Given the description of an element on the screen output the (x, y) to click on. 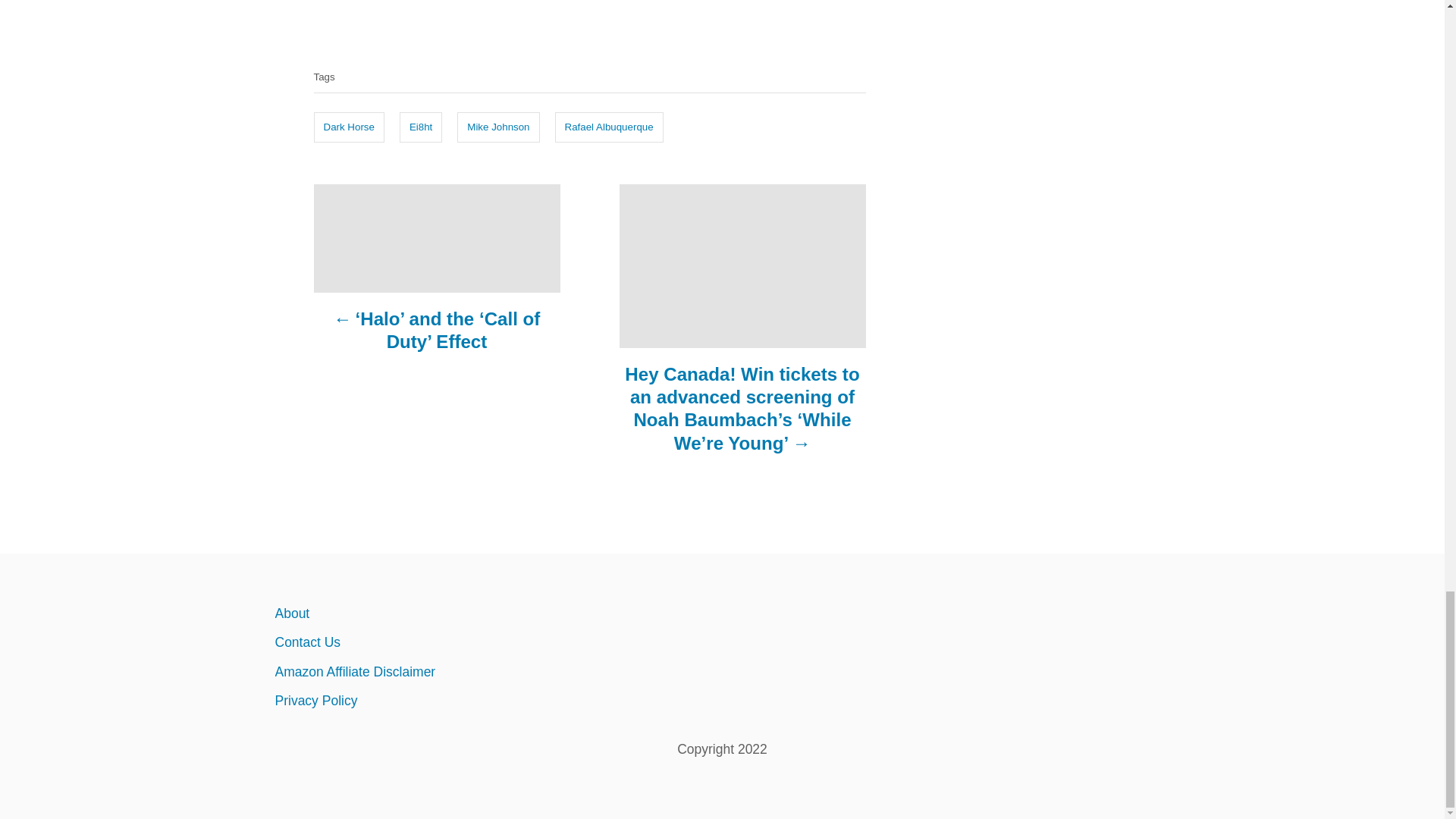
About (406, 613)
Ei8ht (420, 127)
Mike Johnson (497, 127)
Amazon Affiliate Disclaimer (406, 671)
Privacy Policy (406, 700)
Rafael Albuquerque (608, 127)
Contact Us (406, 642)
Dark Horse (349, 127)
